Given the description of an element on the screen output the (x, y) to click on. 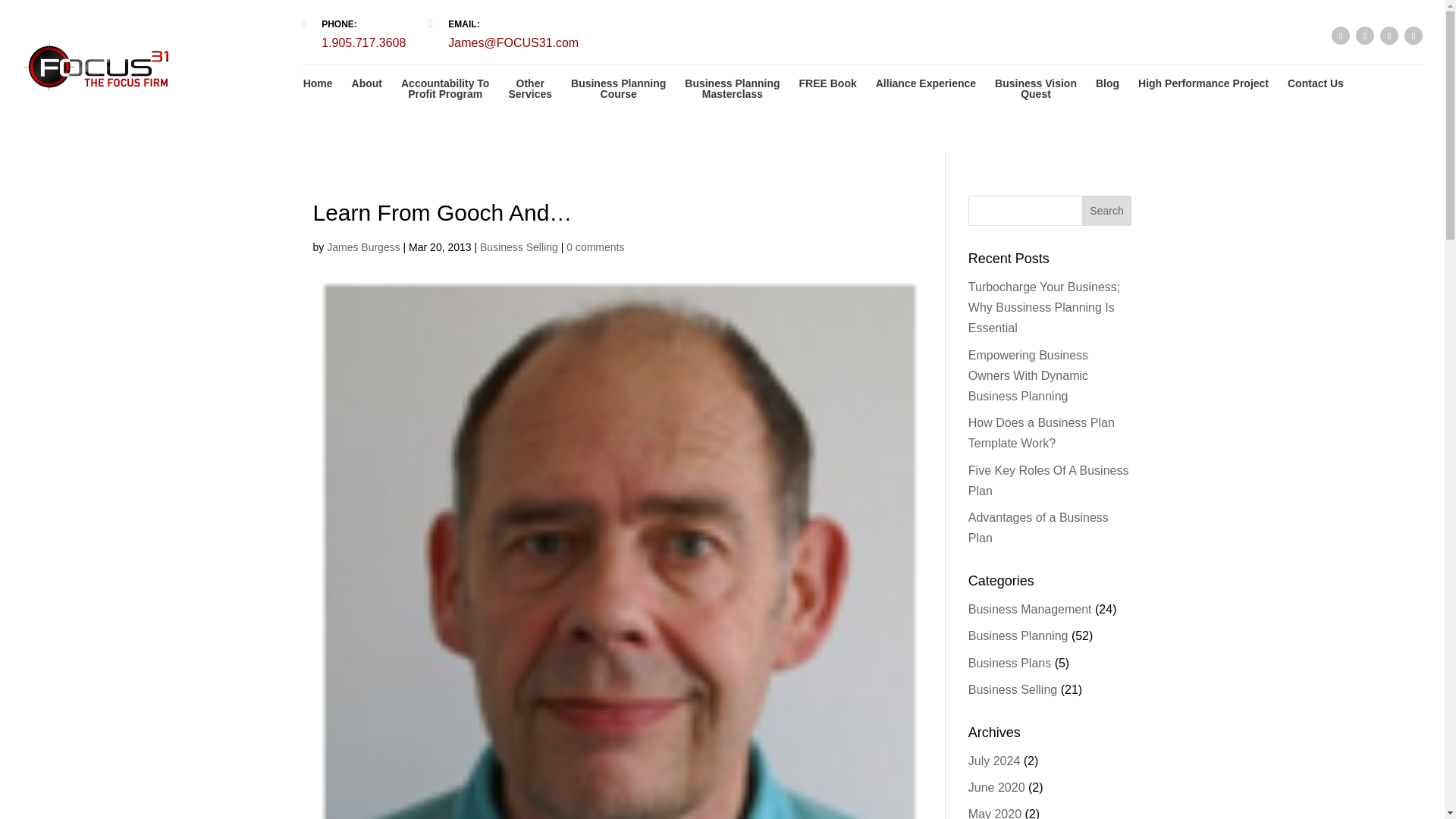
About (366, 91)
FREE Book (828, 91)
Follow on X (529, 91)
Home (1364, 35)
Follow on Youtube (617, 91)
Business Selling (317, 91)
Follow on Facebook (1413, 35)
High Performance Project (518, 246)
Posts by James Burgess (1340, 35)
James Burgess (1203, 91)
